Given the description of an element on the screen output the (x, y) to click on. 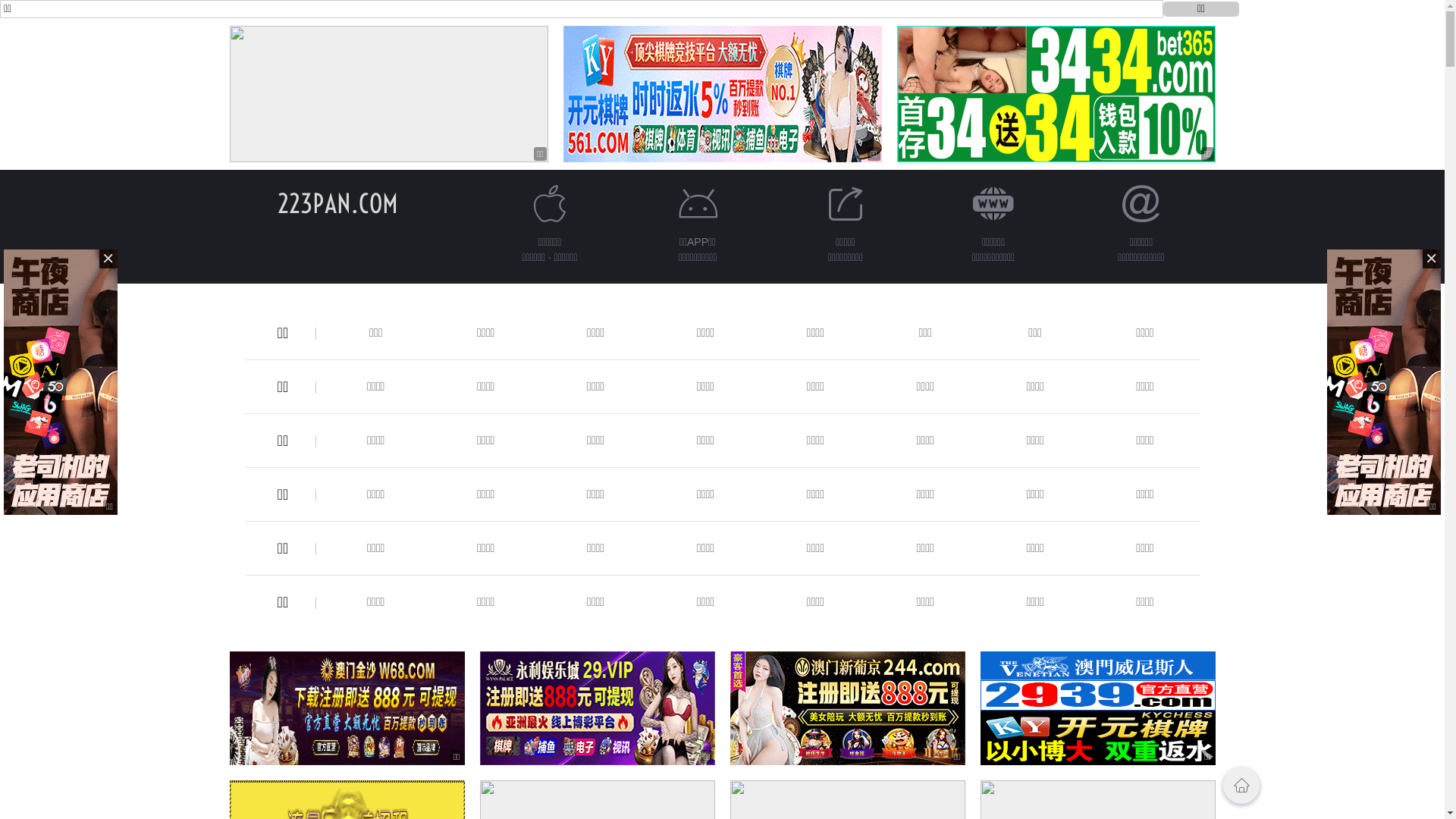
223PAN.COM Element type: text (337, 203)
